Given the description of an element on the screen output the (x, y) to click on. 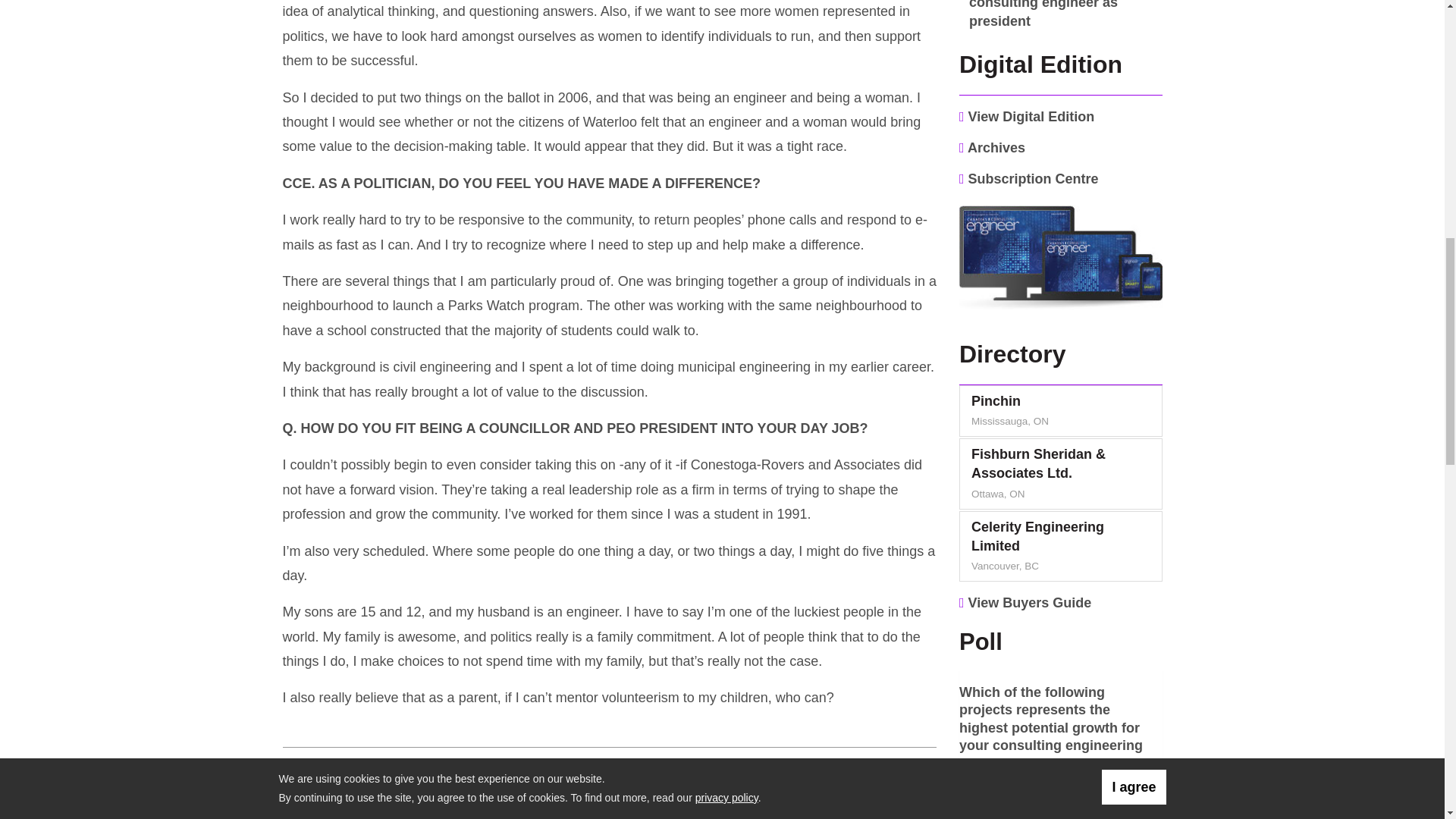
Smart Buildings (964, 803)
